Given the description of an element on the screen output the (x, y) to click on. 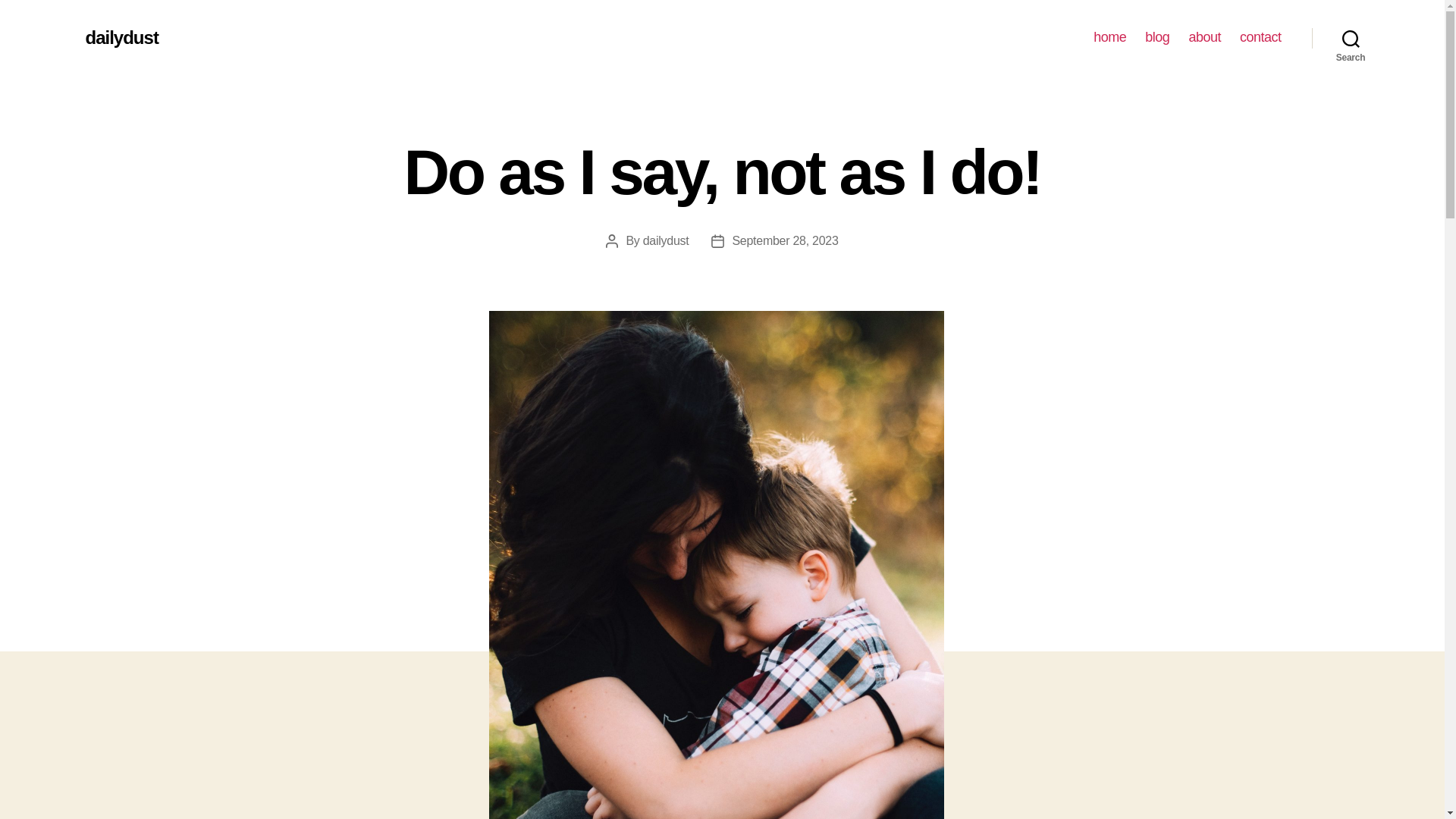
contact (1260, 37)
about (1204, 37)
home (1109, 37)
dailydust (665, 240)
Search (1350, 37)
dailydust (120, 37)
blog (1156, 37)
September 28, 2023 (785, 240)
